Given the description of an element on the screen output the (x, y) to click on. 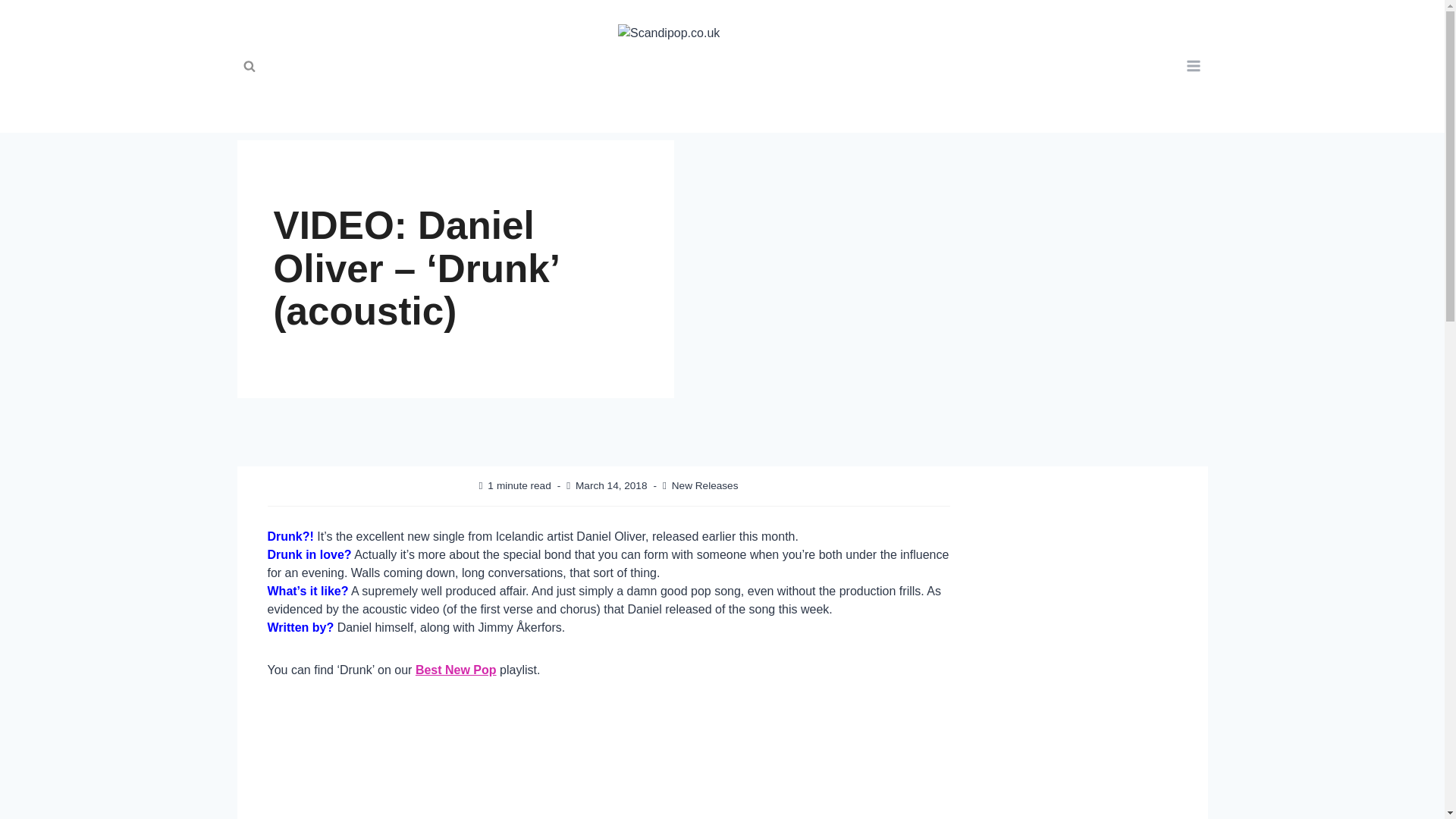
New Releases (704, 485)
Best New Pop (455, 669)
Spotify Embed: Drunk (607, 761)
